Given the description of an element on the screen output the (x, y) to click on. 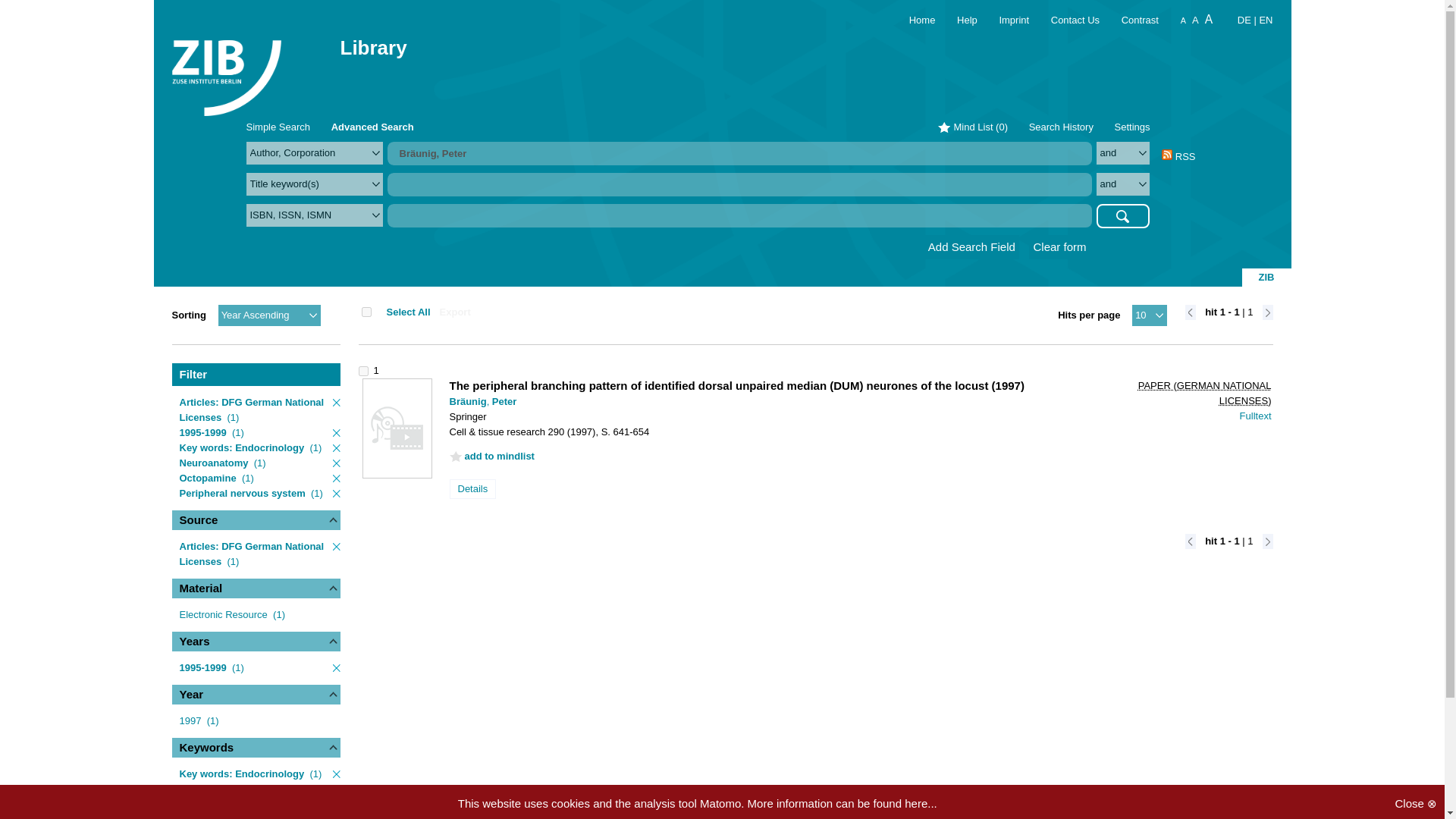
E-Mail an ZIB (1067, 19)
Home (912, 19)
Settings (1132, 126)
Imprint (1004, 19)
Imprint (1004, 19)
Contact Us (1067, 19)
ZIB Library (226, 68)
Search (1123, 215)
Home (912, 19)
Simple Search (278, 126)
Search History (1061, 126)
on (366, 311)
Clear form (1059, 247)
Help (956, 19)
Help (956, 19)
